Given the description of an element on the screen output the (x, y) to click on. 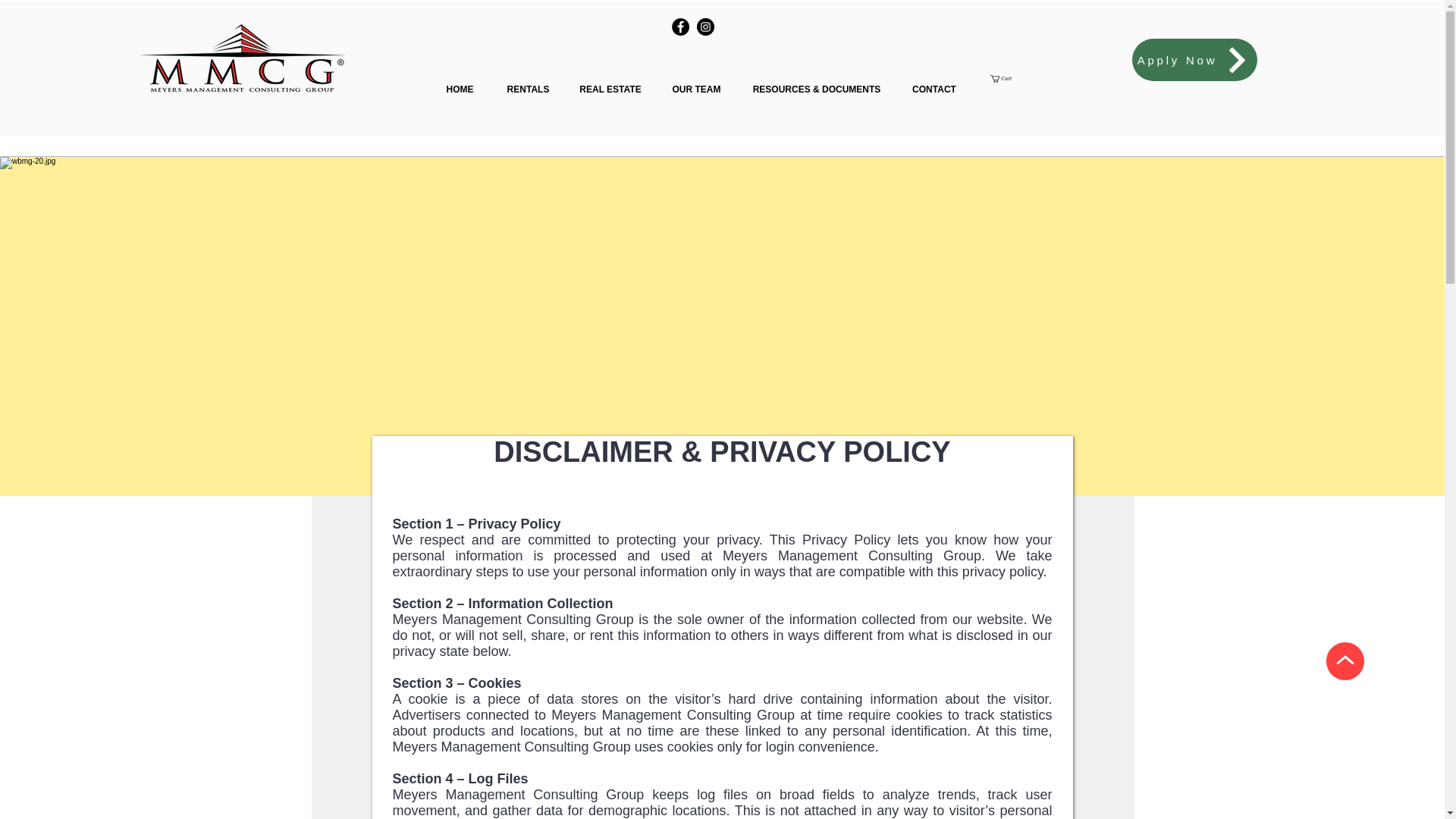
Log In (1020, 83)
Cart (1006, 78)
RENTALS (529, 89)
HOME (460, 89)
OUR TEAM (695, 89)
REAL ESTATE (611, 89)
CONTACT (934, 89)
Cart (1006, 78)
Apply Now (1193, 59)
